Given the description of an element on the screen output the (x, y) to click on. 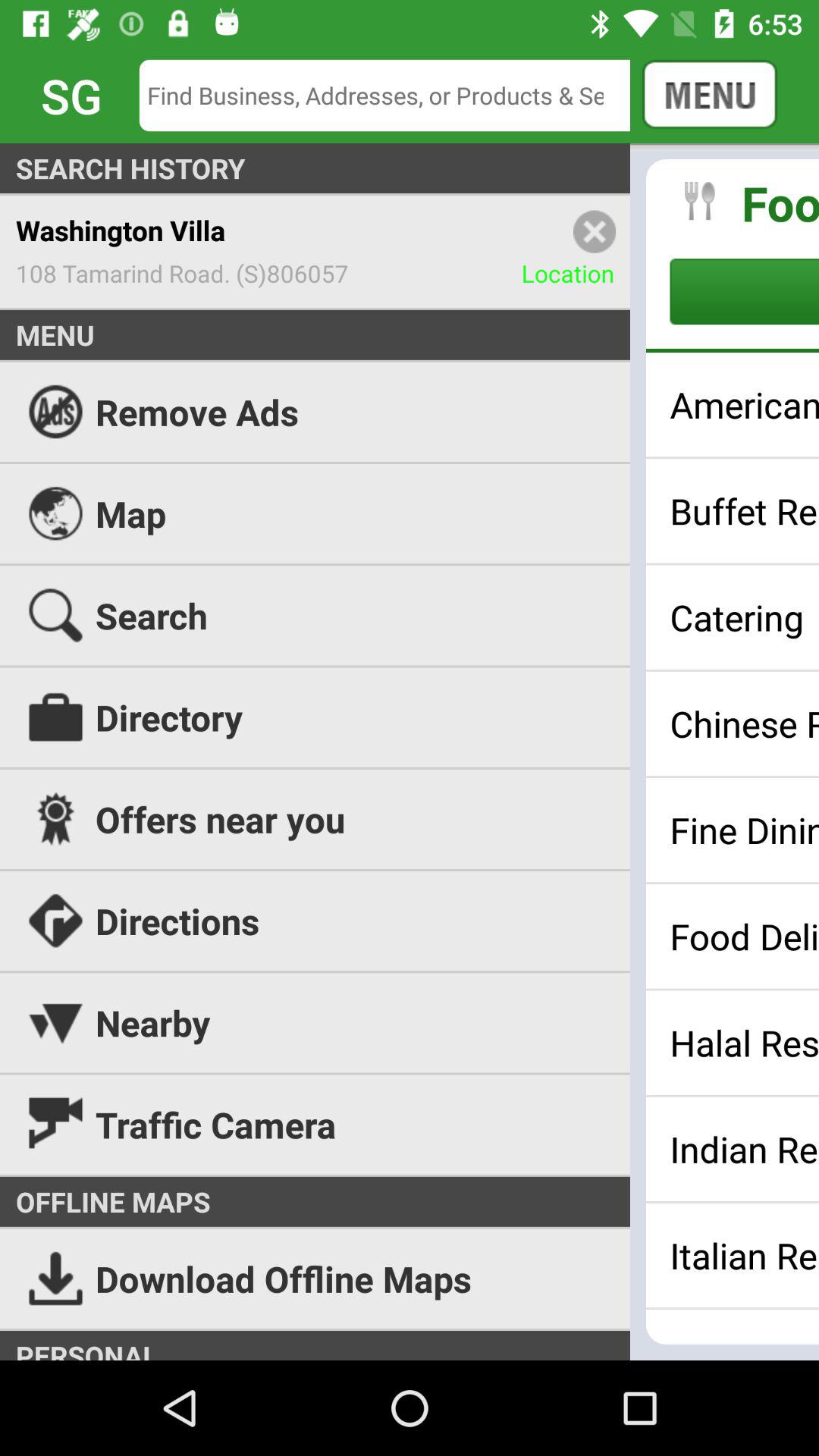
select the location item (575, 273)
